Given the description of an element on the screen output the (x, y) to click on. 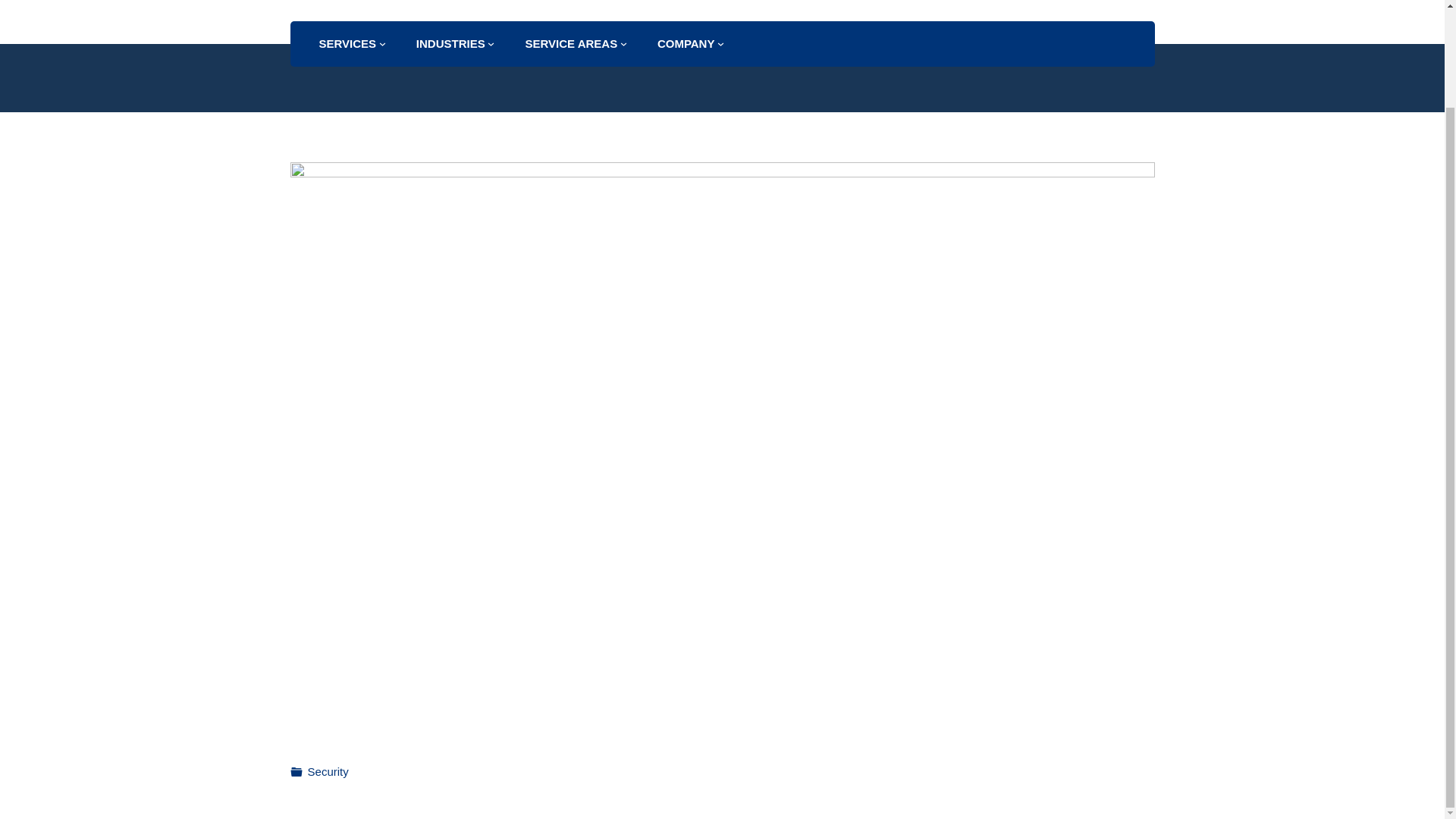
SERVICES (346, 43)
INDUSTRIES (450, 43)
